Given the description of an element on the screen output the (x, y) to click on. 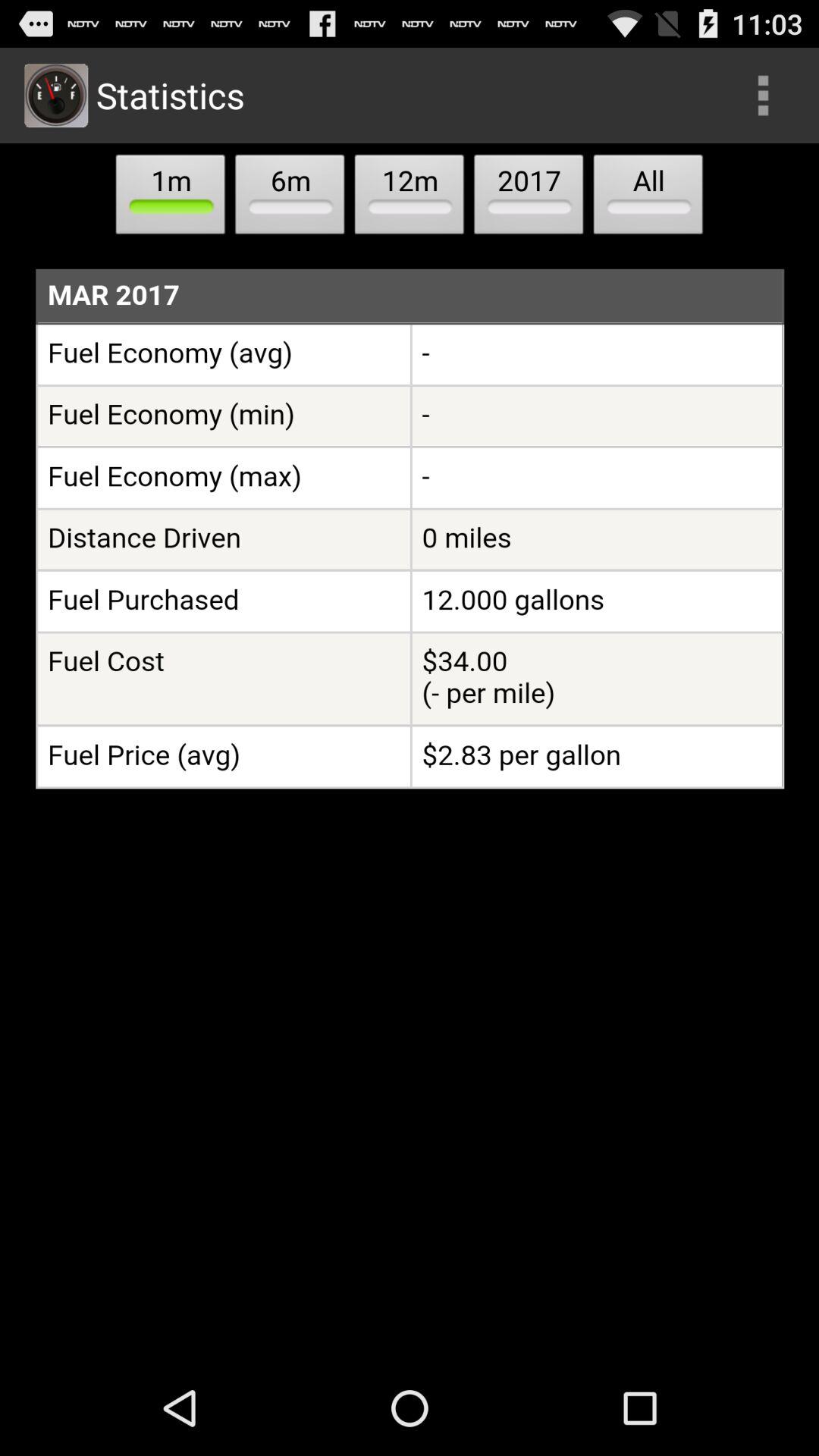
option button (763, 95)
